Given the description of an element on the screen output the (x, y) to click on. 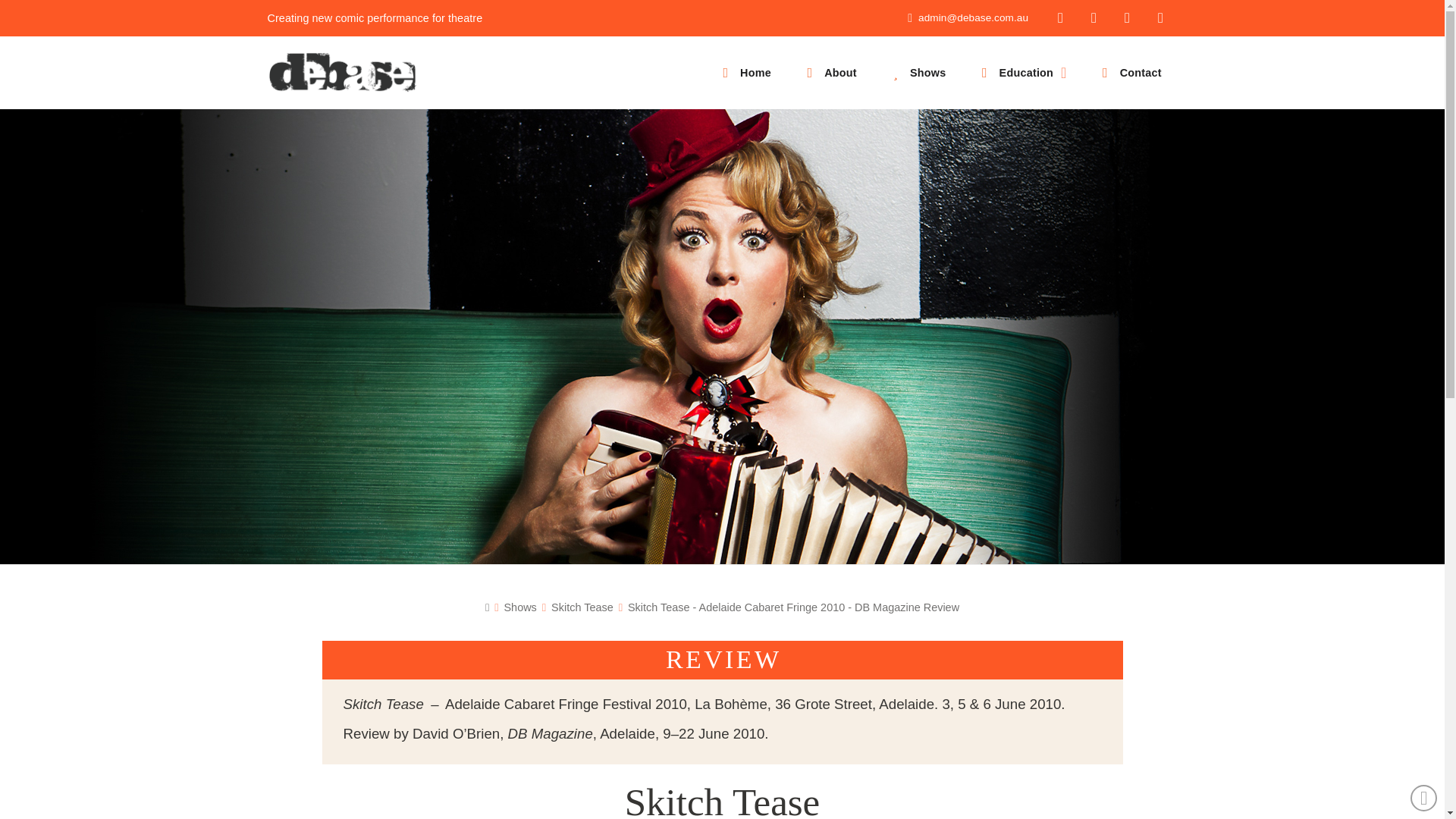
Back to Top (1423, 797)
Shows (519, 607)
Skitch Tease (581, 607)
Shows (917, 72)
You Are Here (793, 607)
Contact (1128, 72)
About (829, 72)
Education (1020, 72)
Home (745, 72)
